Given the description of an element on the screen output the (x, y) to click on. 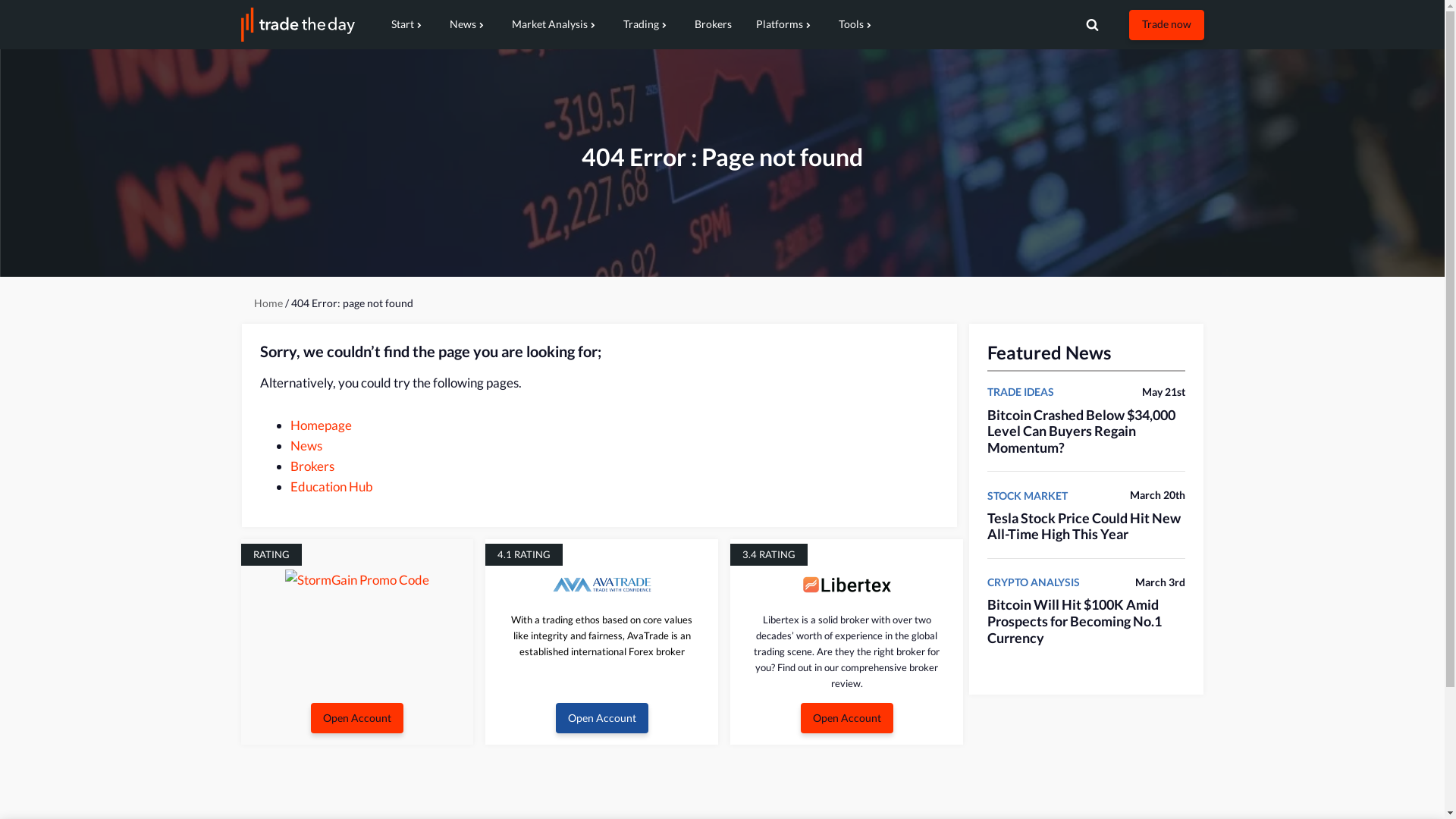
Open Account Element type: text (356, 717)
Search Element type: text (1190, 48)
News Element type: text (305, 445)
Start Element type: text (408, 24)
Tesla Stock Price Could Hit New All-Time High This Year Element type: text (1083, 525)
Tools Element type: text (856, 24)
Homepage Element type: text (320, 425)
Open Account Element type: text (846, 717)
Brokers Element type: text (311, 465)
Market Analysis Element type: text (554, 24)
Open Account Element type: text (601, 717)
Home Element type: text (267, 302)
Platforms Element type: text (784, 24)
Brokers Element type: text (712, 24)
Trading Element type: text (646, 24)
News Element type: text (467, 24)
Trade now Element type: text (1165, 24)
404 Market Crash - Market Crash Red Element type: hover (722, 162)
Education Hub Element type: text (330, 486)
